Given the description of an element on the screen output the (x, y) to click on. 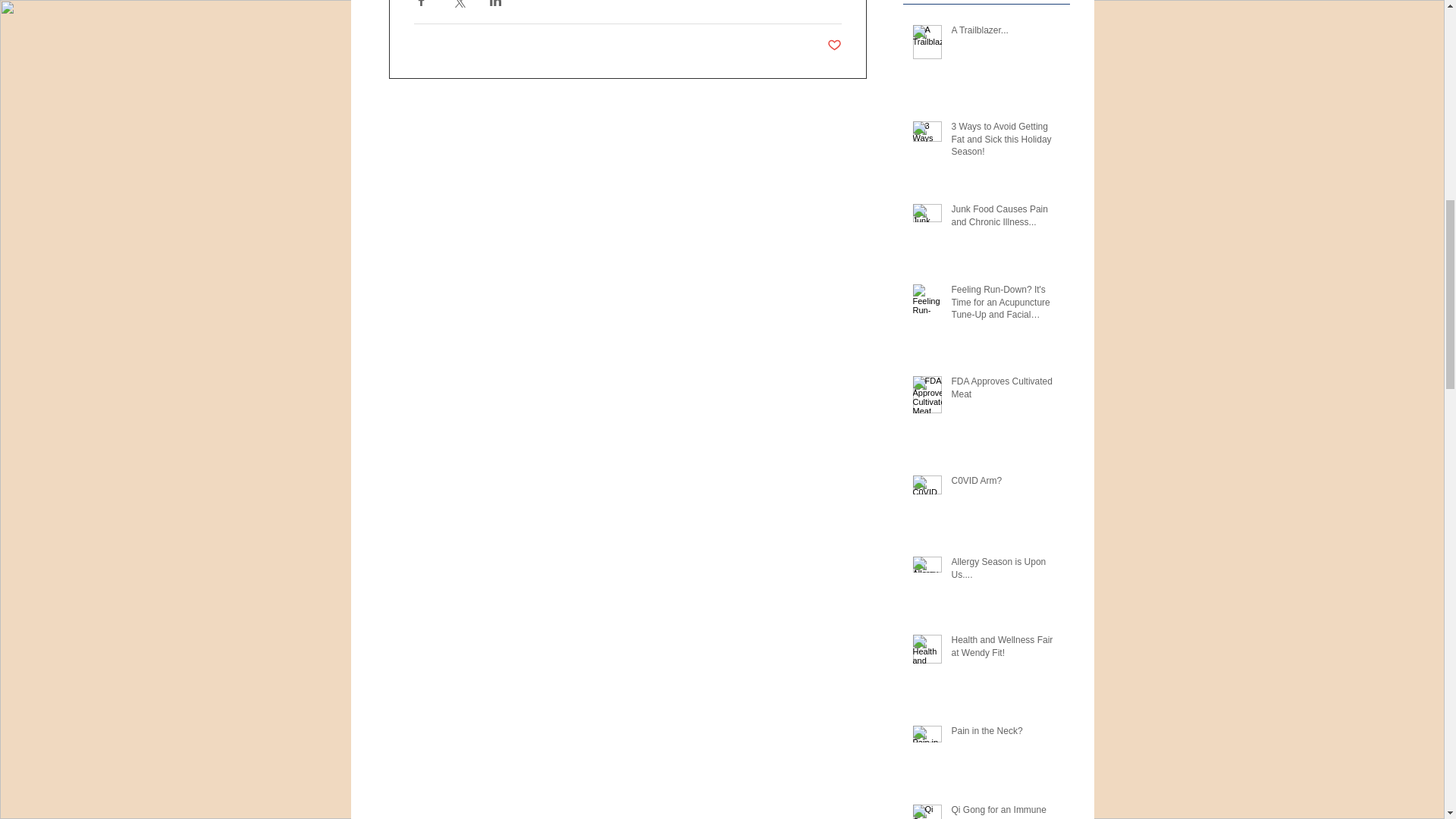
3 Ways to Avoid Getting Fat and Sick this Holiday Season! (1004, 142)
Health and Wellness Fair at Wendy Fit! (1004, 649)
Post not marked as liked (834, 45)
C0VID Arm? (1004, 484)
Allergy Season is Upon Us.... (1004, 572)
FDA Approves Cultivated Meat (1004, 391)
Pain in the Neck? (1004, 733)
A Trailblazer... (1004, 33)
Qi Gong for an Immune System Boost! (1004, 811)
Junk Food Causes Pain and Chronic Illness... (1004, 219)
